Given the description of an element on the screen output the (x, y) to click on. 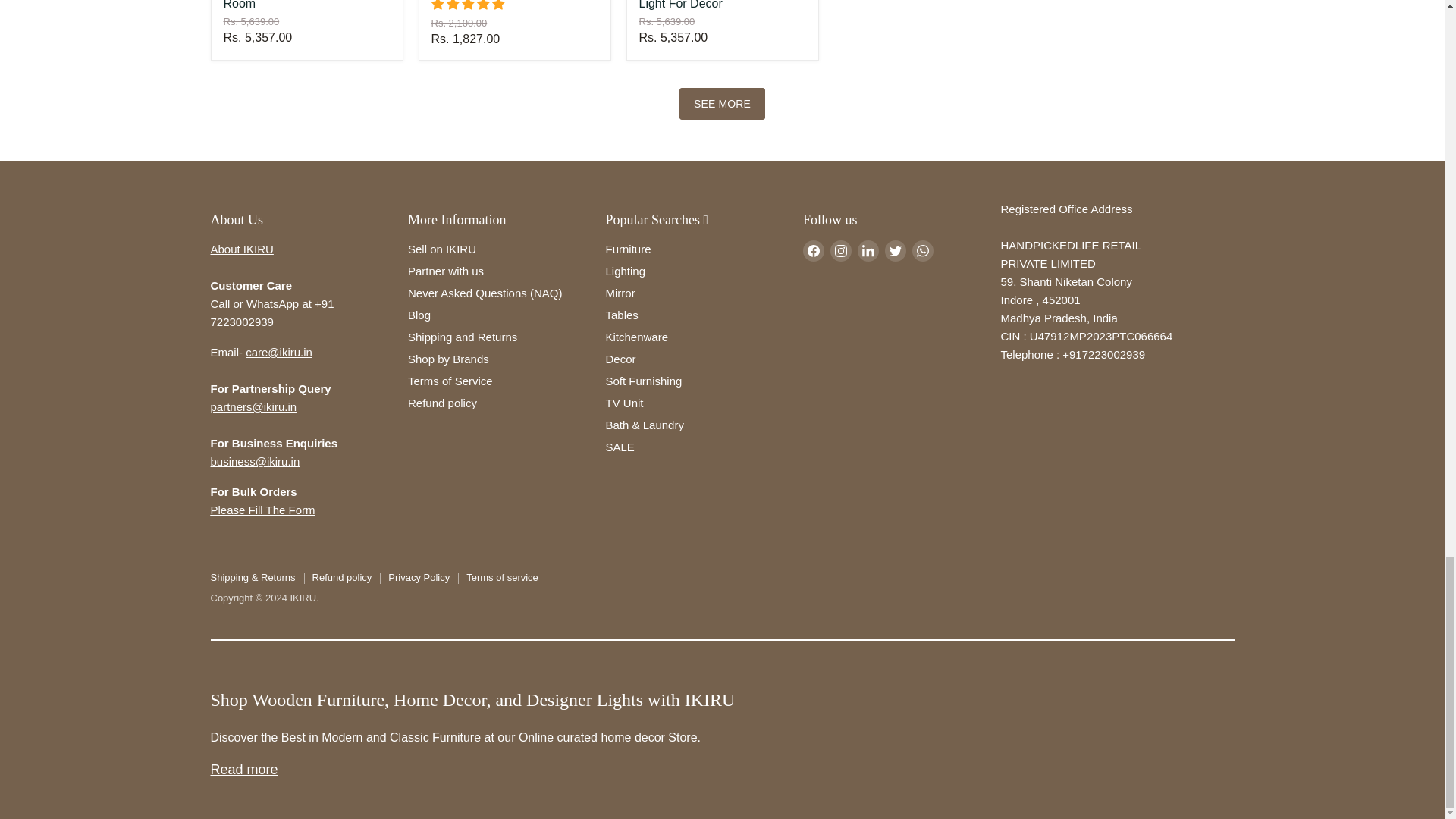
LinkedIn (868, 250)
About us (242, 248)
Instagram (840, 250)
Twitter (895, 250)
Facebook (813, 250)
WhatsApp (922, 250)
